Given the description of an element on the screen output the (x, y) to click on. 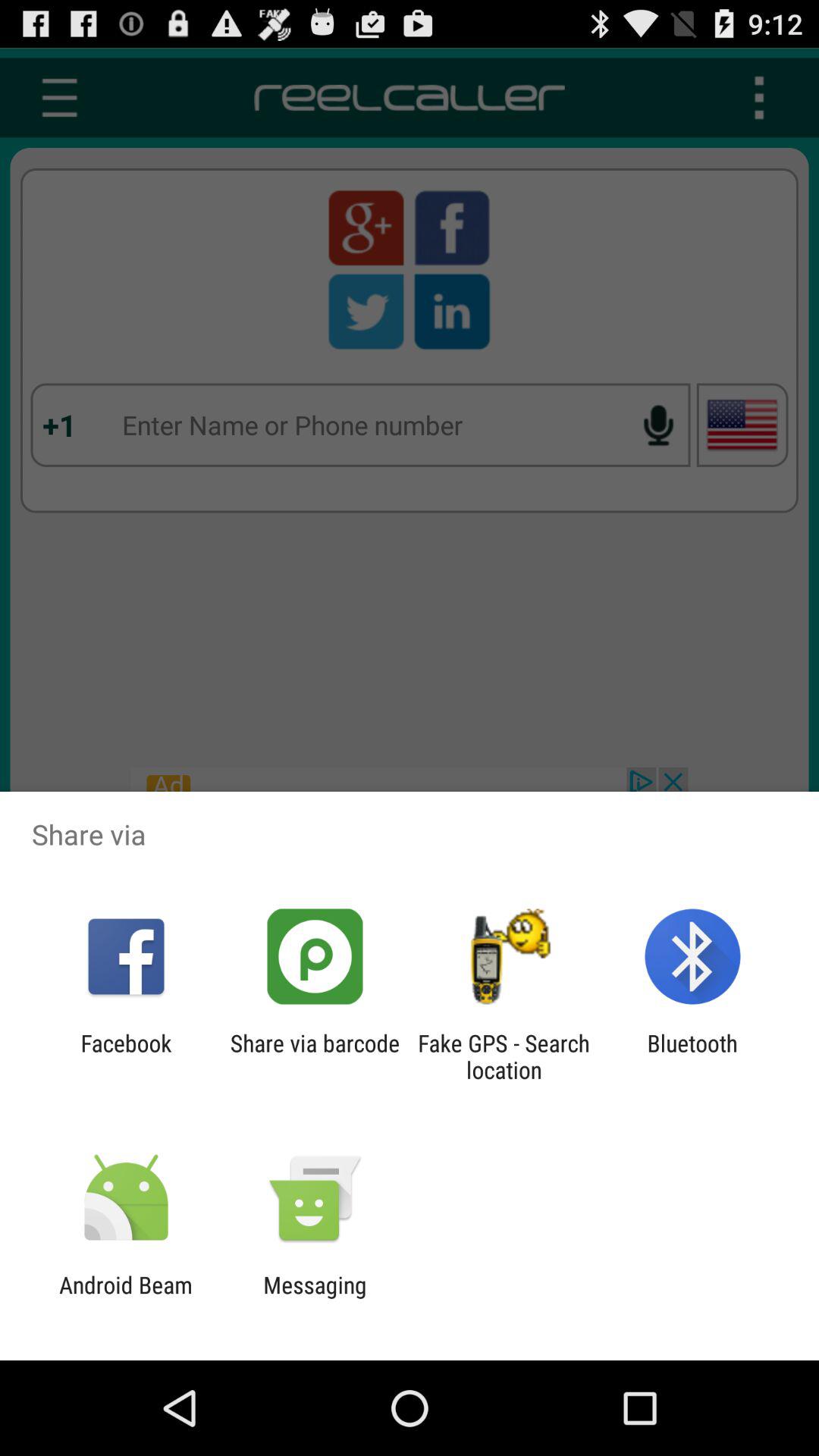
click fake gps search (503, 1056)
